Given the description of an element on the screen output the (x, y) to click on. 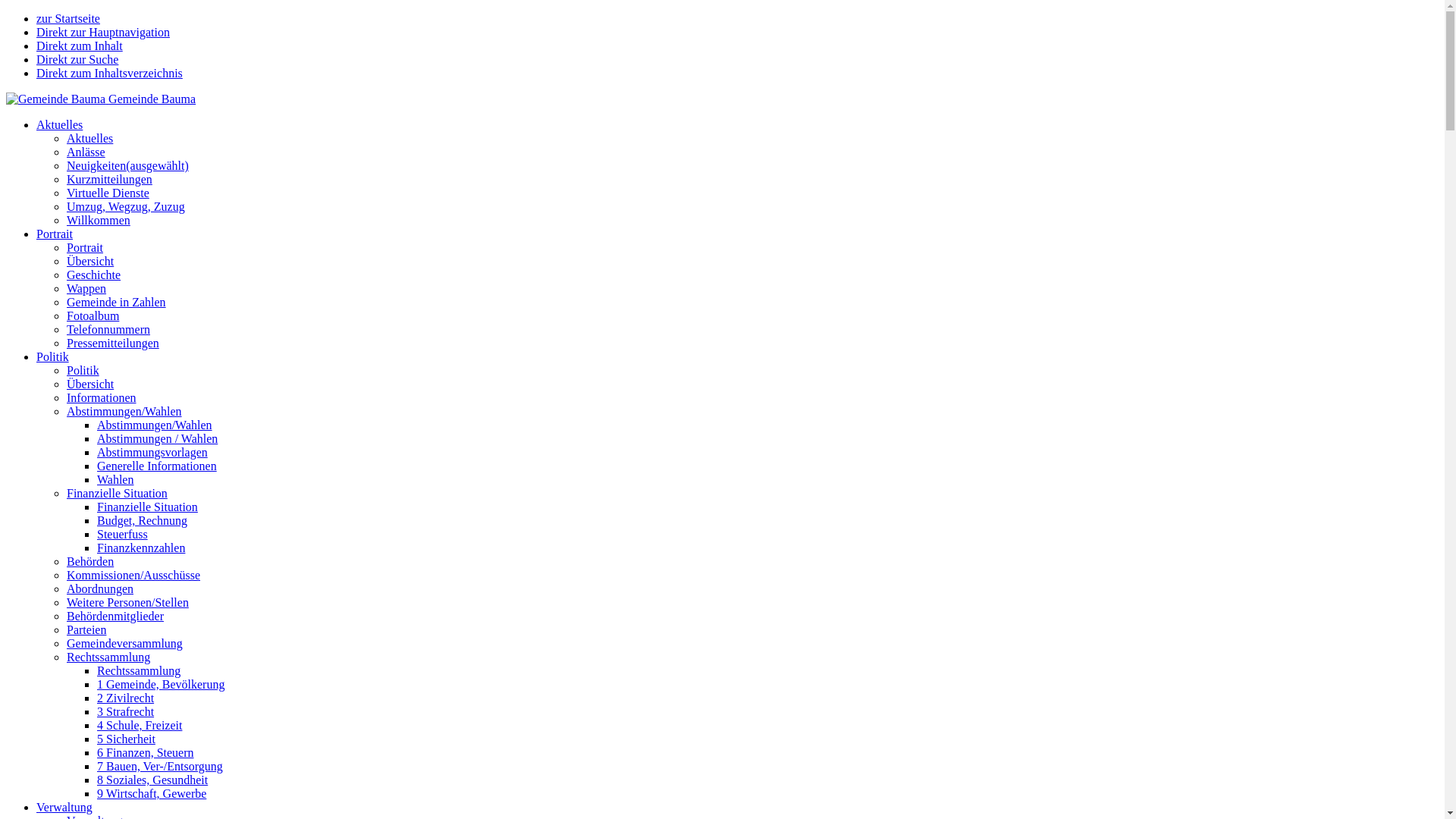
Portrait Element type: text (84, 247)
Gemeinde in Zahlen Element type: text (116, 301)
Abstimmungen / Wahlen Element type: text (157, 438)
Budget, Rechnung Element type: text (142, 520)
Steuerfuss Element type: text (122, 533)
Gemeinde Bauma Element type: text (100, 98)
Umzug, Wegzug, Zuzug Element type: text (125, 206)
5 Sicherheit Element type: text (126, 738)
Aktuelles Element type: text (59, 124)
Parteien Element type: text (86, 629)
Generelle Informationen Element type: text (156, 465)
Virtuelle Dienste Element type: text (107, 192)
Direkt zur Suche Element type: text (77, 59)
Fotoalbum Element type: text (92, 315)
Verwaltung Element type: text (64, 806)
7 Bauen, Ver-/Entsorgung Element type: text (159, 765)
Gemeindeversammlung Element type: text (124, 643)
Rechtssammlung Element type: text (138, 670)
Rechtssammlung Element type: text (108, 656)
Willkommen Element type: text (98, 219)
Abstimmungen/Wahlen Element type: text (154, 424)
Kurzmitteilungen Element type: text (109, 178)
Finanzielle Situation Element type: text (116, 492)
Direkt zur Hauptnavigation Element type: text (102, 31)
Geschichte Element type: text (93, 274)
Telefonnummern Element type: text (108, 329)
Aktuelles Element type: text (89, 137)
Finanzkennzahlen Element type: text (141, 547)
8 Soziales, Gesundheit Element type: text (152, 779)
Abstimmungen/Wahlen Element type: text (124, 410)
Abstimmungsvorlagen Element type: text (152, 451)
Pressemitteilungen Element type: text (112, 342)
Abordnungen Element type: text (99, 588)
Direkt zum Inhaltsverzeichnis Element type: text (109, 72)
Wappen Element type: text (86, 288)
Wahlen Element type: text (115, 479)
9 Wirtschaft, Gewerbe Element type: text (151, 793)
Direkt zum Inhalt Element type: text (79, 45)
Informationen Element type: text (101, 397)
Politik Element type: text (52, 356)
zur Startseite Element type: text (68, 18)
2 Zivilrecht Element type: text (125, 697)
Politik Element type: text (82, 370)
Weitere Personen/Stellen Element type: text (127, 602)
3 Strafrecht Element type: text (125, 711)
Portrait Element type: text (54, 233)
6 Finanzen, Steuern Element type: text (145, 752)
Finanzielle Situation Element type: text (147, 506)
4 Schule, Freizeit Element type: text (139, 724)
